Given the description of an element on the screen output the (x, y) to click on. 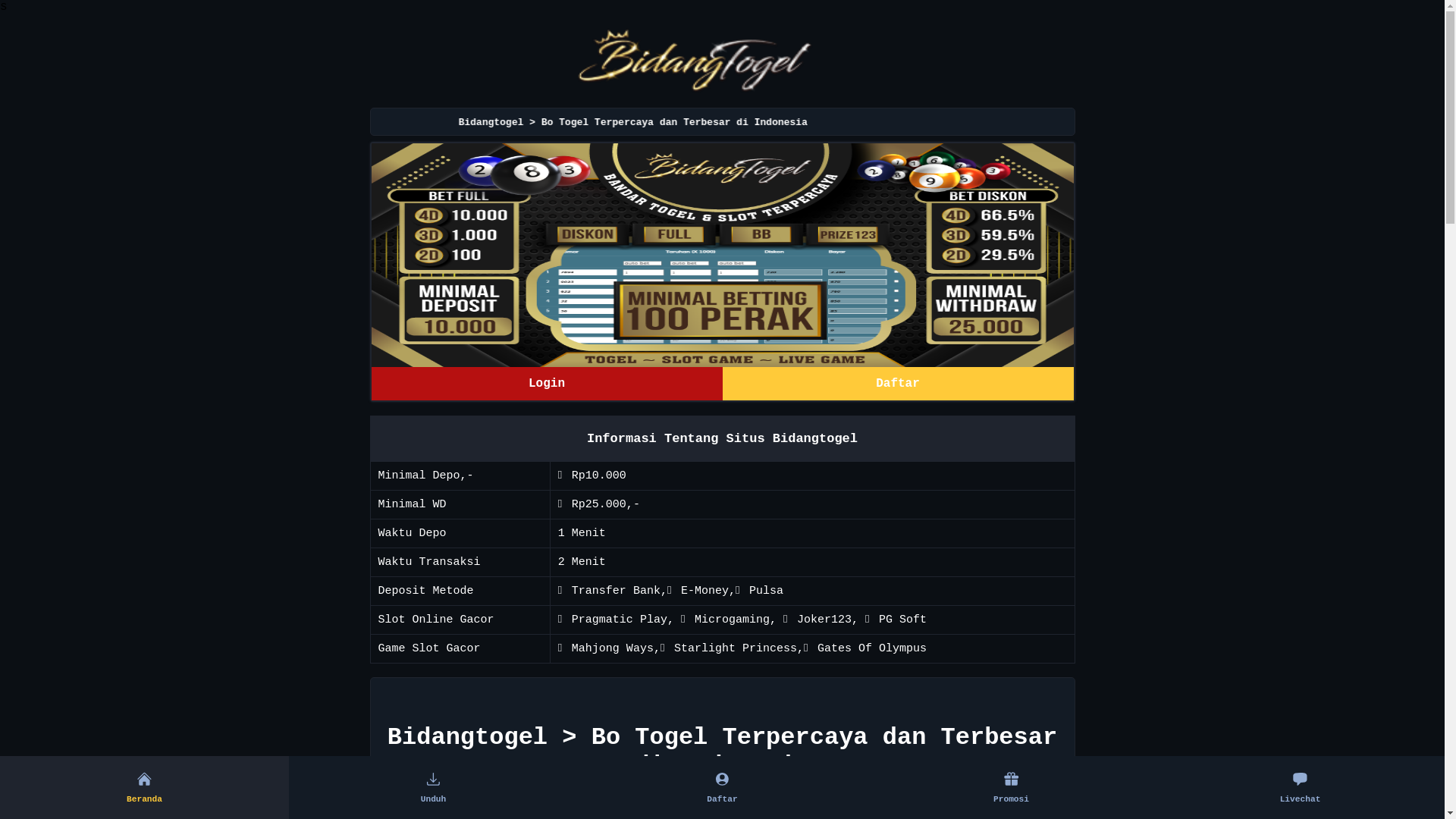
Bidangtogel Element type: hover (722, 255)
Daftar Element type: text (897, 383)
Login Element type: text (546, 383)
